Given the description of an element on the screen output the (x, y) to click on. 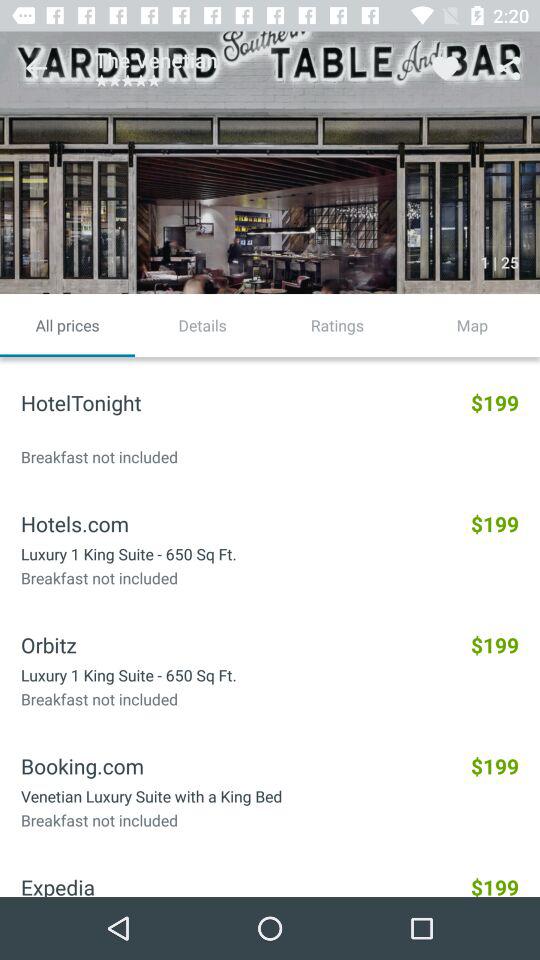
click the item to the left of the ratings (202, 325)
